Given the description of an element on the screen output the (x, y) to click on. 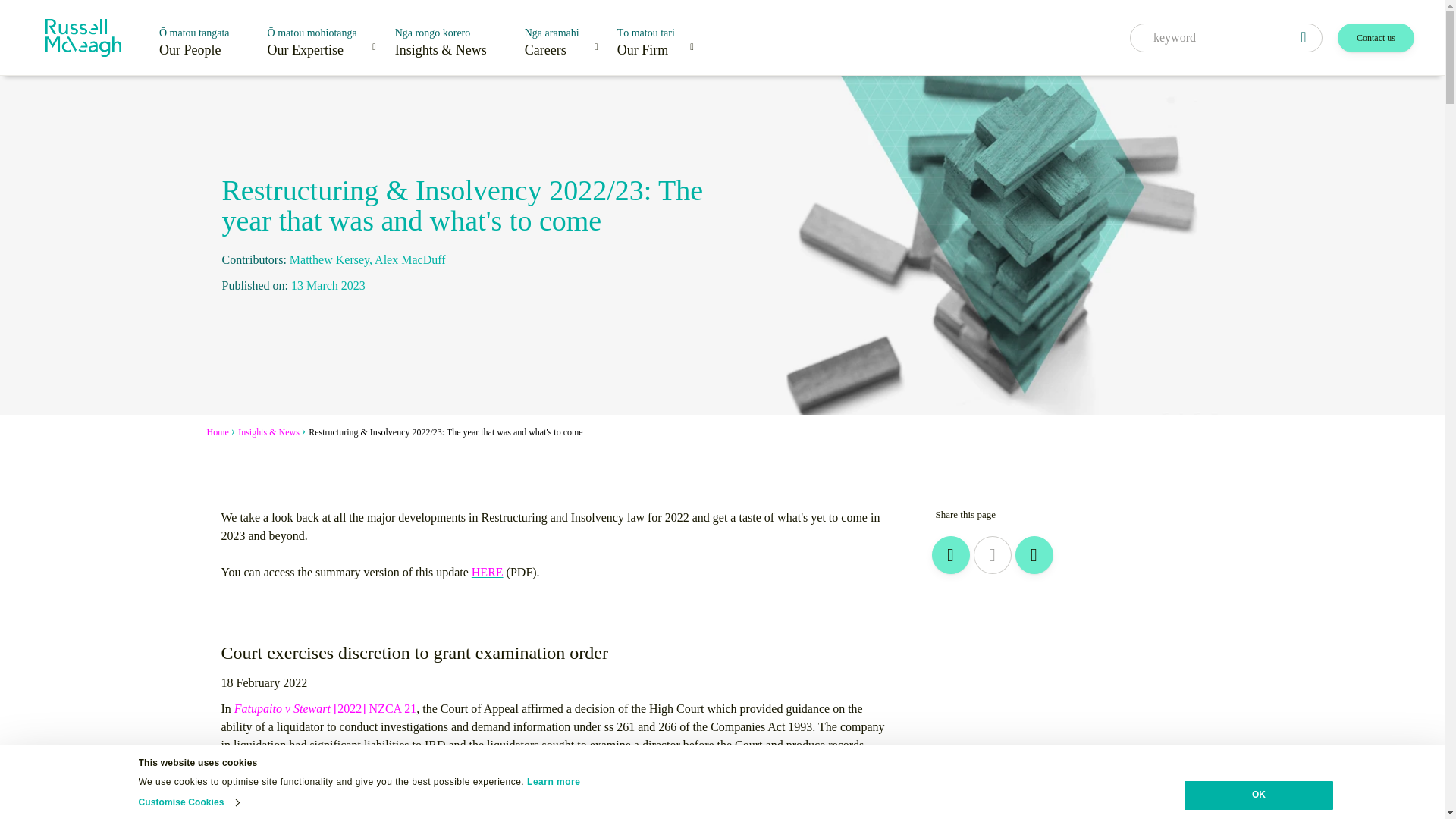
Customise Cookies (188, 802)
Learn more (553, 781)
Restructuring And Insolvency 2022 23 (487, 571)
OK (1258, 795)
Stewart V Fatupaito 2022 NZCA 21 (325, 707)
